Given the description of an element on the screen output the (x, y) to click on. 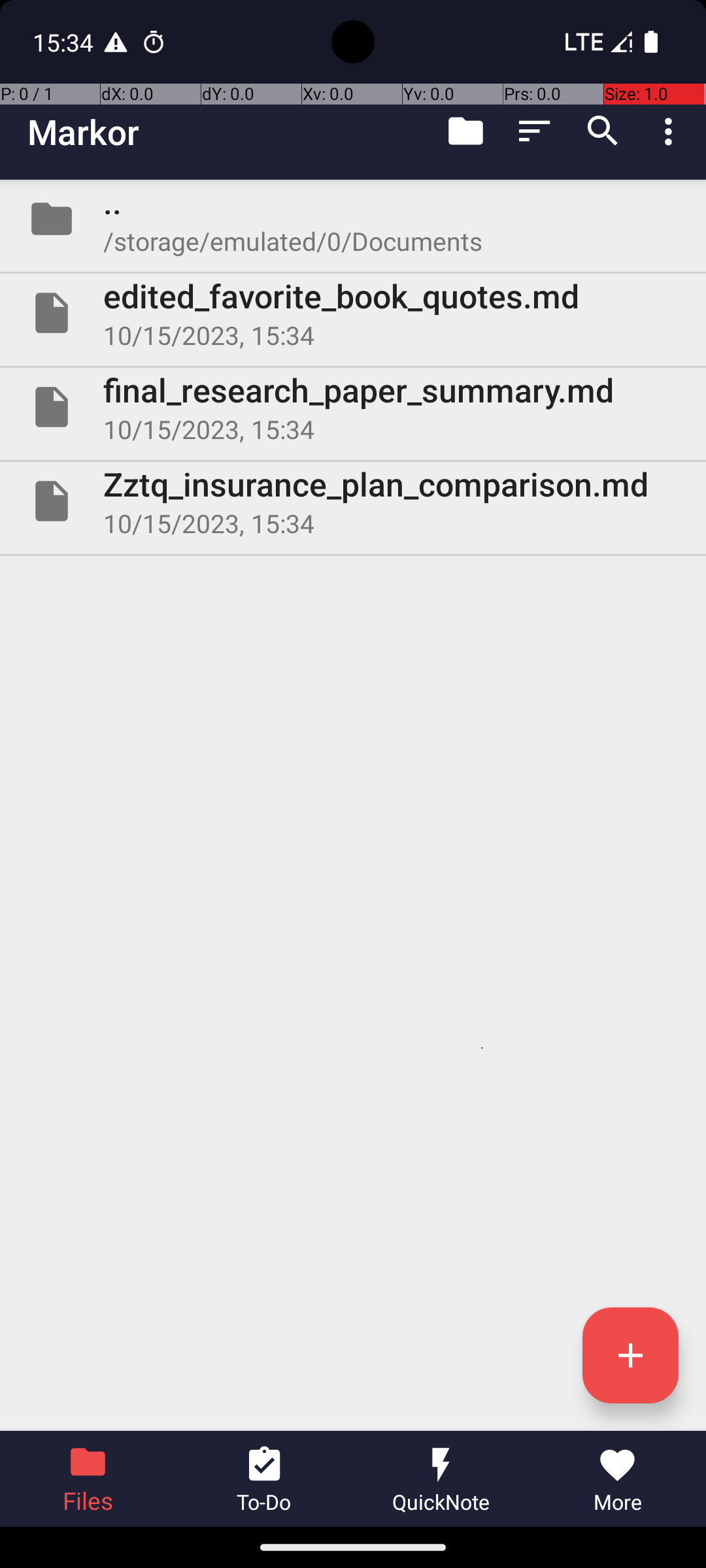
File edited_favorite_book_quotes.md  Element type: android.widget.LinearLayout (353, 312)
File final_research_paper_summary.md  Element type: android.widget.LinearLayout (353, 406)
File Zztq_insurance_plan_comparison.md  Element type: android.widget.LinearLayout (353, 500)
